Given the description of an element on the screen output the (x, y) to click on. 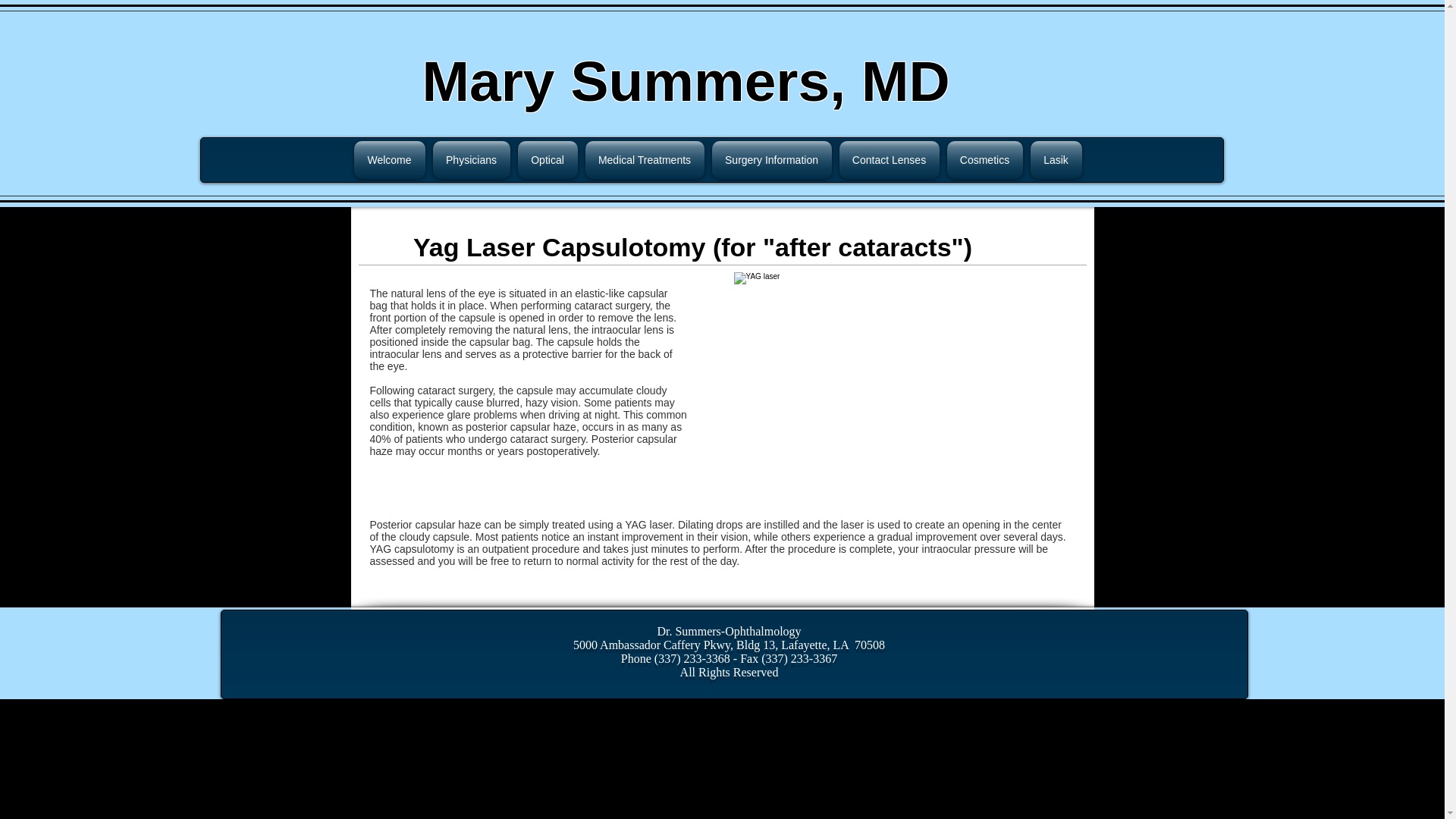
Surgery Information (771, 159)
Medical Treatments (643, 159)
Welcome (390, 159)
Contact Lenses (889, 159)
Cosmetics (984, 159)
Physicians (471, 159)
Wix.com (1071, 622)
Optical (546, 159)
